Given the description of an element on the screen output the (x, y) to click on. 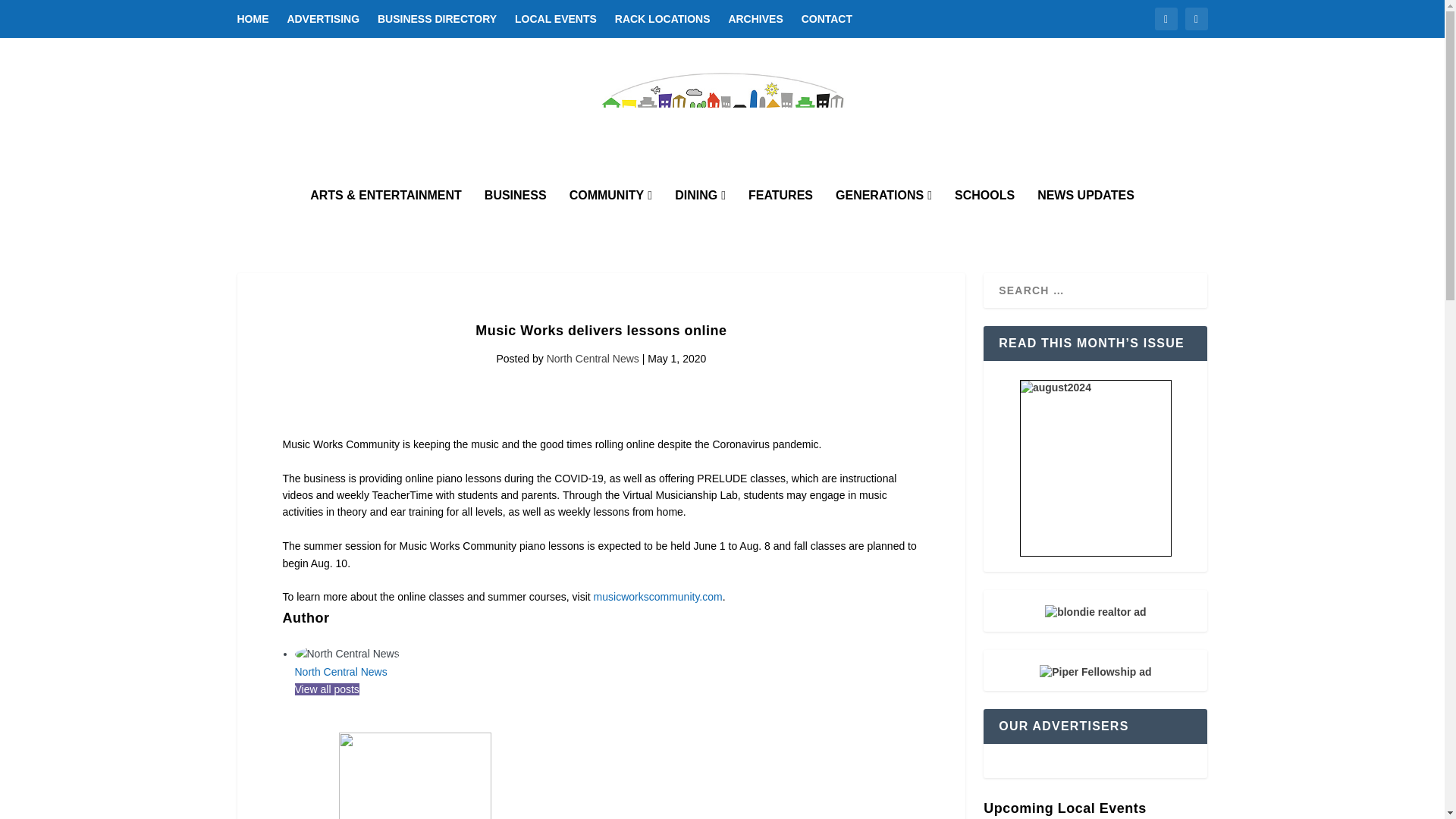
RACK LOCATIONS (662, 18)
ARCHIVES (755, 18)
North Central News (340, 671)
BUSINESS DIRECTORY (436, 18)
LOCAL EVENTS (555, 18)
View all posts (326, 689)
North Central News (340, 671)
FEATURES (780, 215)
COMMUNITY (610, 215)
NEWS UPDATES (1085, 215)
SCHOOLS (984, 215)
GENERATIONS (883, 215)
musicworkscommunity.com (658, 596)
View all posts (326, 689)
DINING (700, 215)
